Given the description of an element on the screen output the (x, y) to click on. 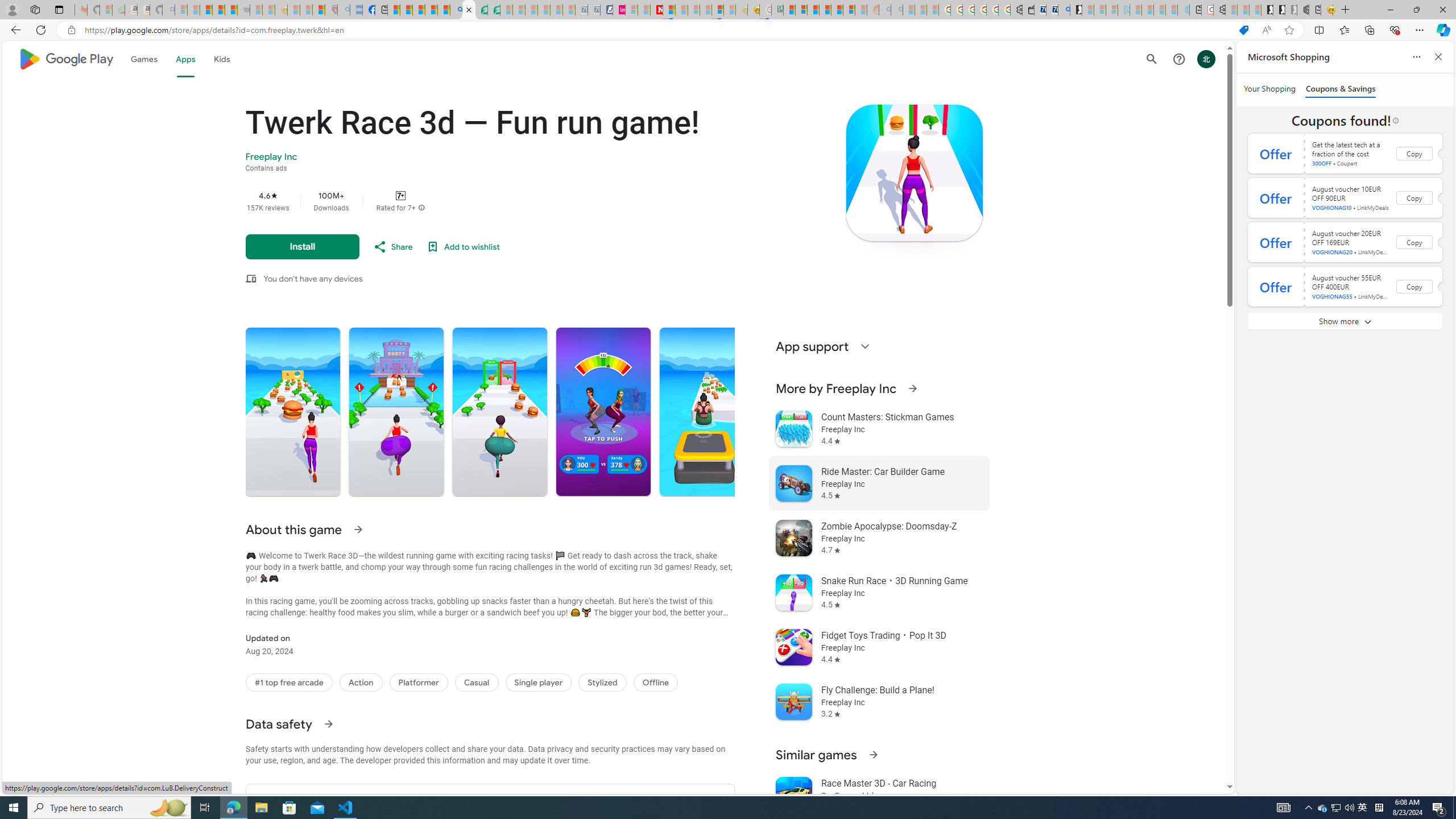
Install (301, 246)
Content rating (400, 194)
Google Play logo (65, 58)
Share (392, 246)
